Given the description of an element on the screen output the (x, y) to click on. 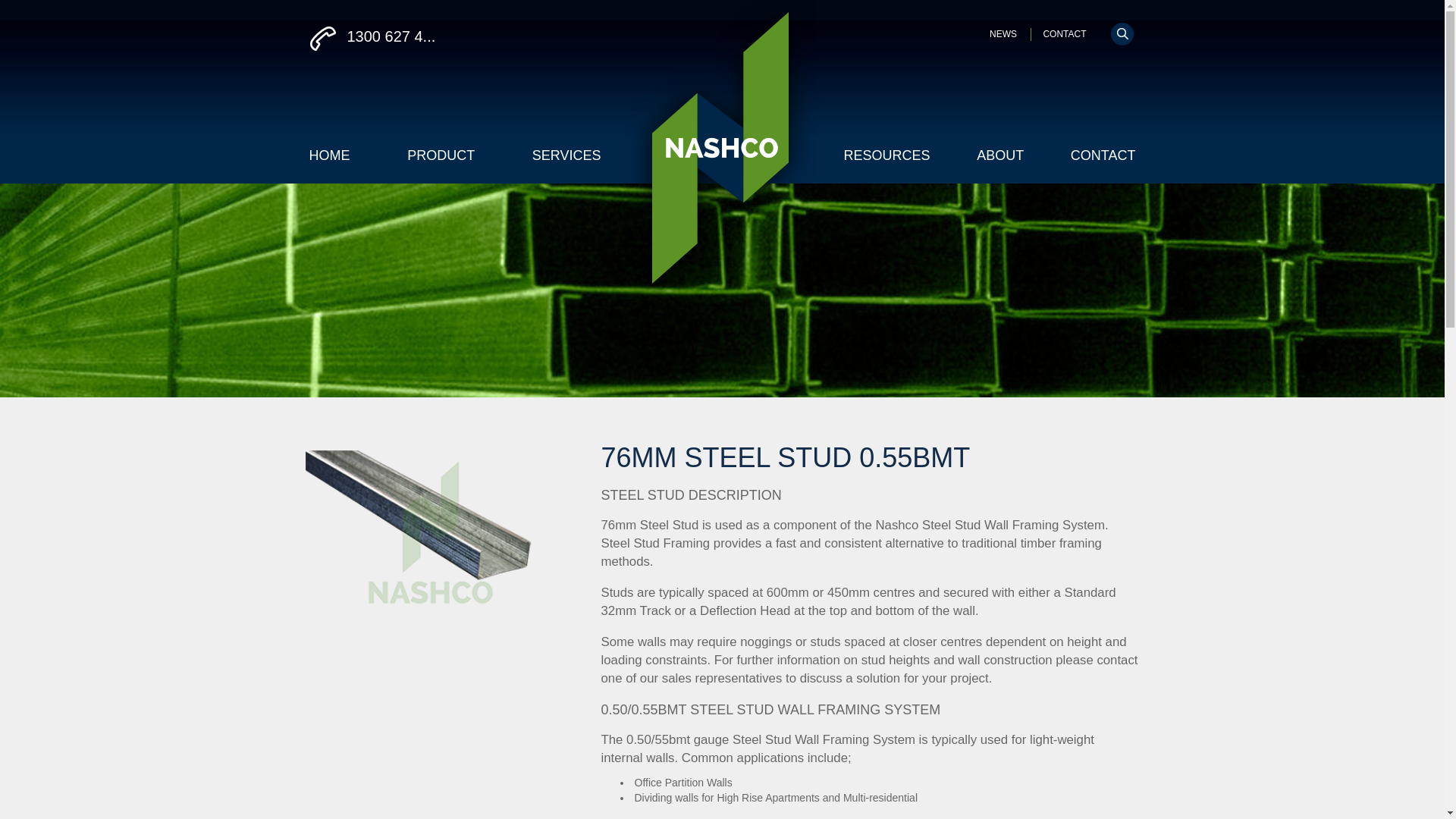
76mm Steel Stud 0.55bmt Element type: hover (429, 531)
HOME Element type: text (329, 155)
CONTACT Element type: text (1103, 155)
NEWS Element type: text (1003, 34)
Go Element type: text (18, 11)
ABOUT Element type: text (1000, 155)
1300 627 4... Element type: text (509, 37)
RESOURCES Element type: text (886, 155)
PRODUCT Element type: text (440, 155)
CONTACT Element type: text (1058, 34)
SERVICES Element type: text (566, 155)
